Given the description of an element on the screen output the (x, y) to click on. 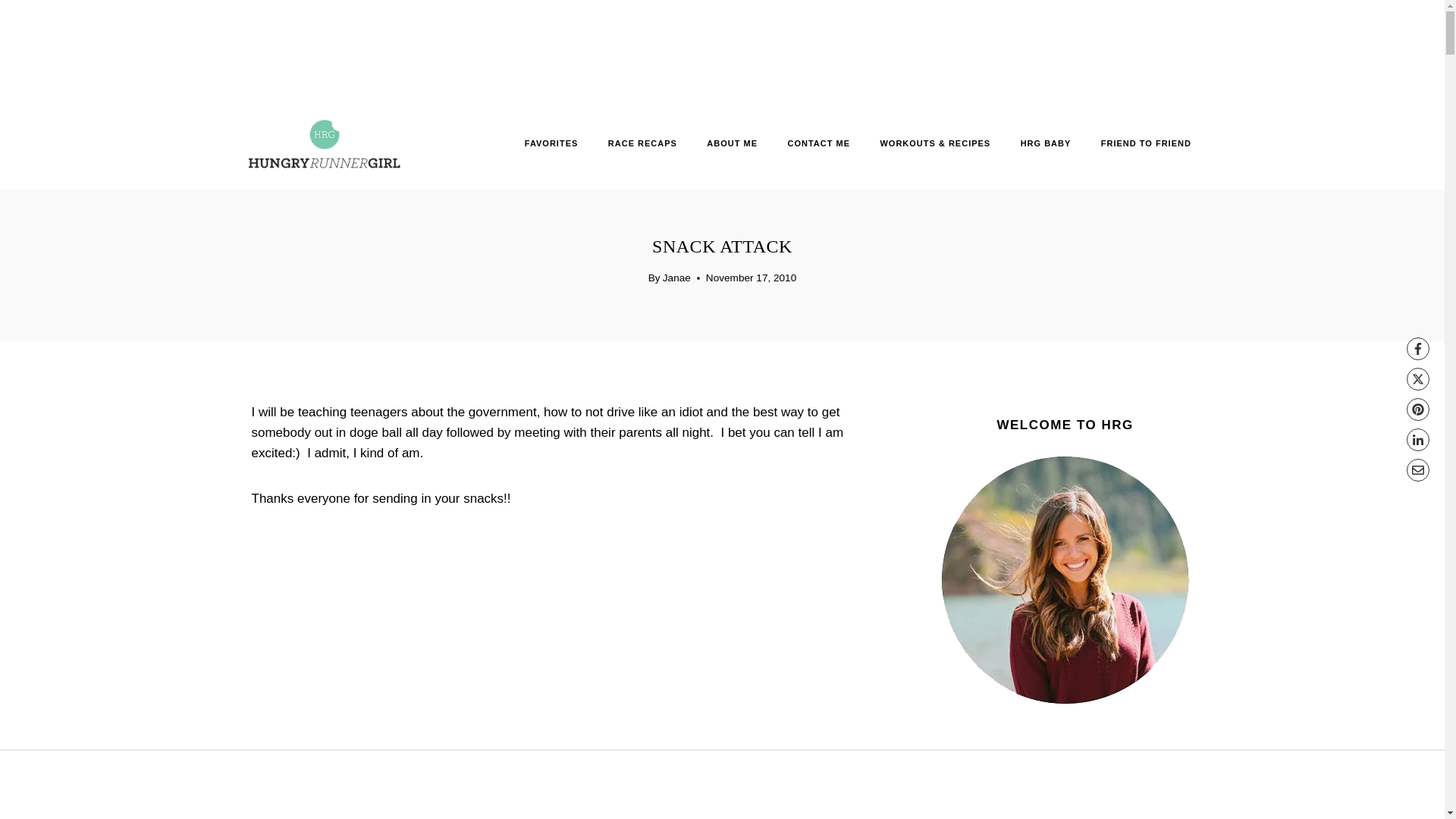
FRIEND TO FRIEND (1145, 143)
Janae (676, 277)
RACE RECAPS (641, 143)
CONTACT ME (819, 143)
FAVORITES (551, 143)
HRG BABY (1044, 143)
ABOUT ME (731, 143)
